Given the description of an element on the screen output the (x, y) to click on. 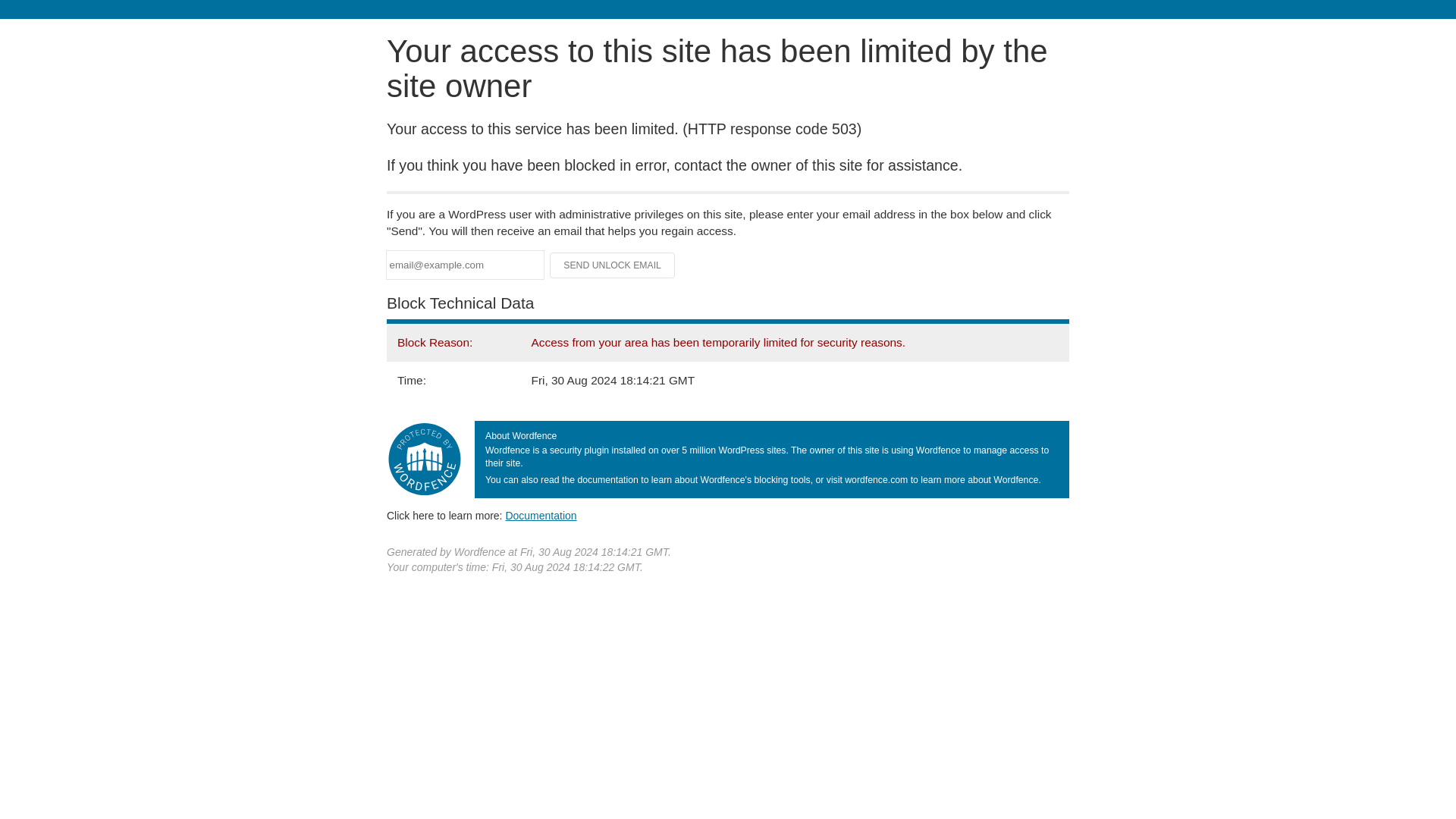
Send Unlock Email (612, 265)
Send Unlock Email (612, 265)
Documentation (540, 515)
